Given the description of an element on the screen output the (x, y) to click on. 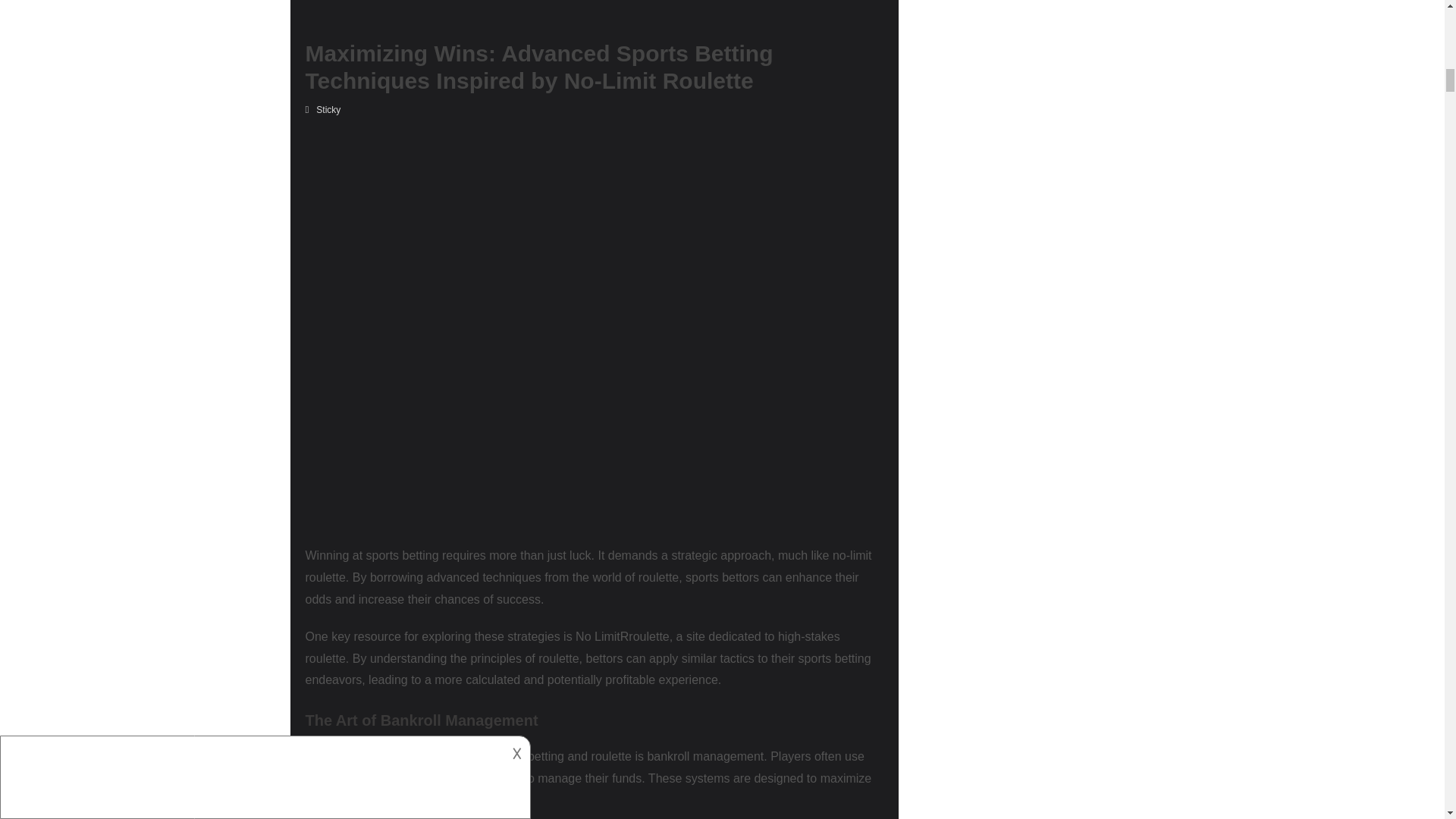
Sticky (327, 109)
